Given the description of an element on the screen output the (x, y) to click on. 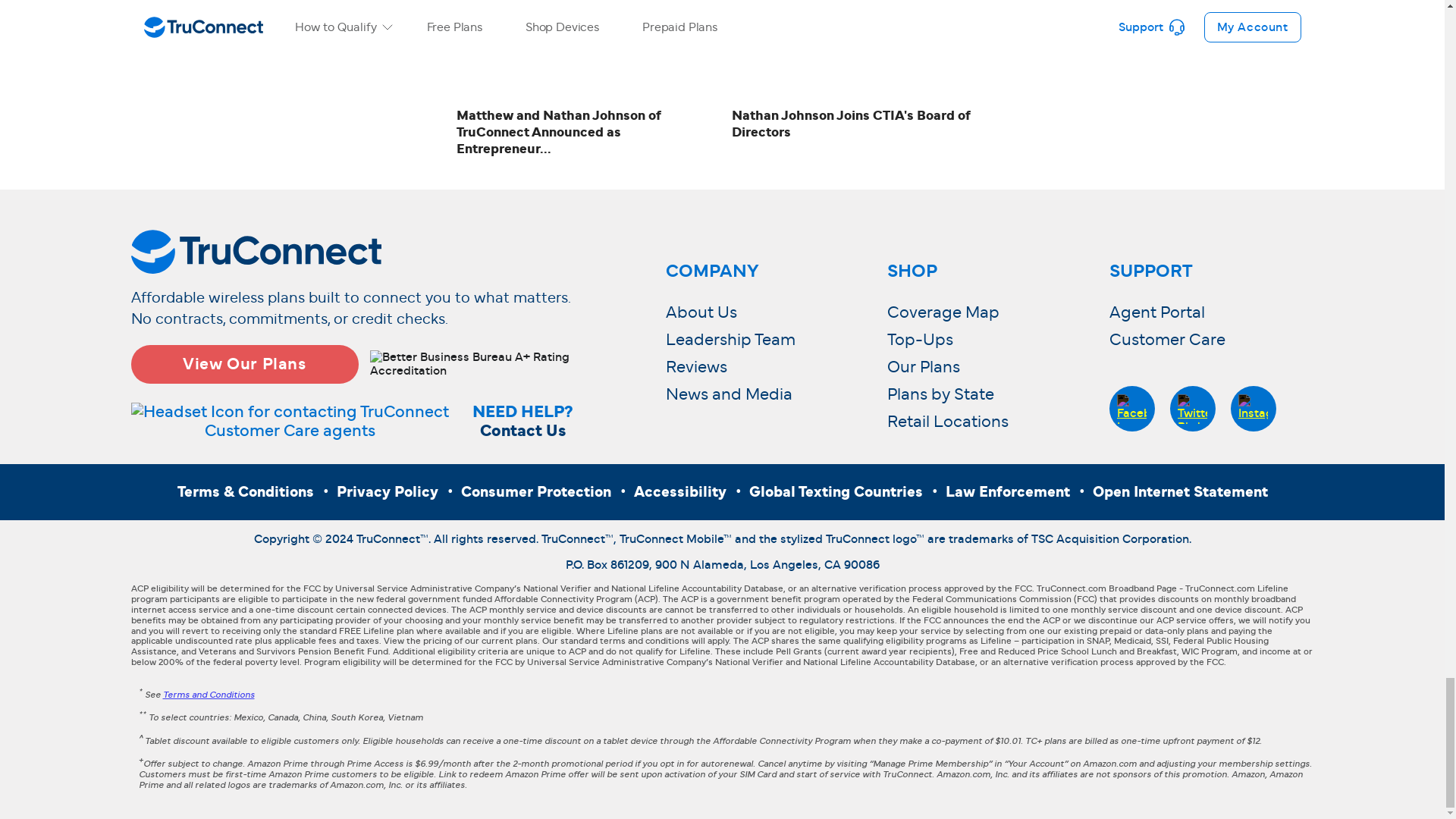
Our Plans (922, 366)
Customer Care Headset Icon (289, 421)
Twitter Logo (1192, 408)
Plans by State (940, 393)
Leadership Team (729, 339)
Reviews (695, 366)
About Us (700, 312)
Coverage Map (942, 312)
Agent Portal (1156, 312)
Customer Care (1166, 339)
